Given the description of an element on the screen output the (x, y) to click on. 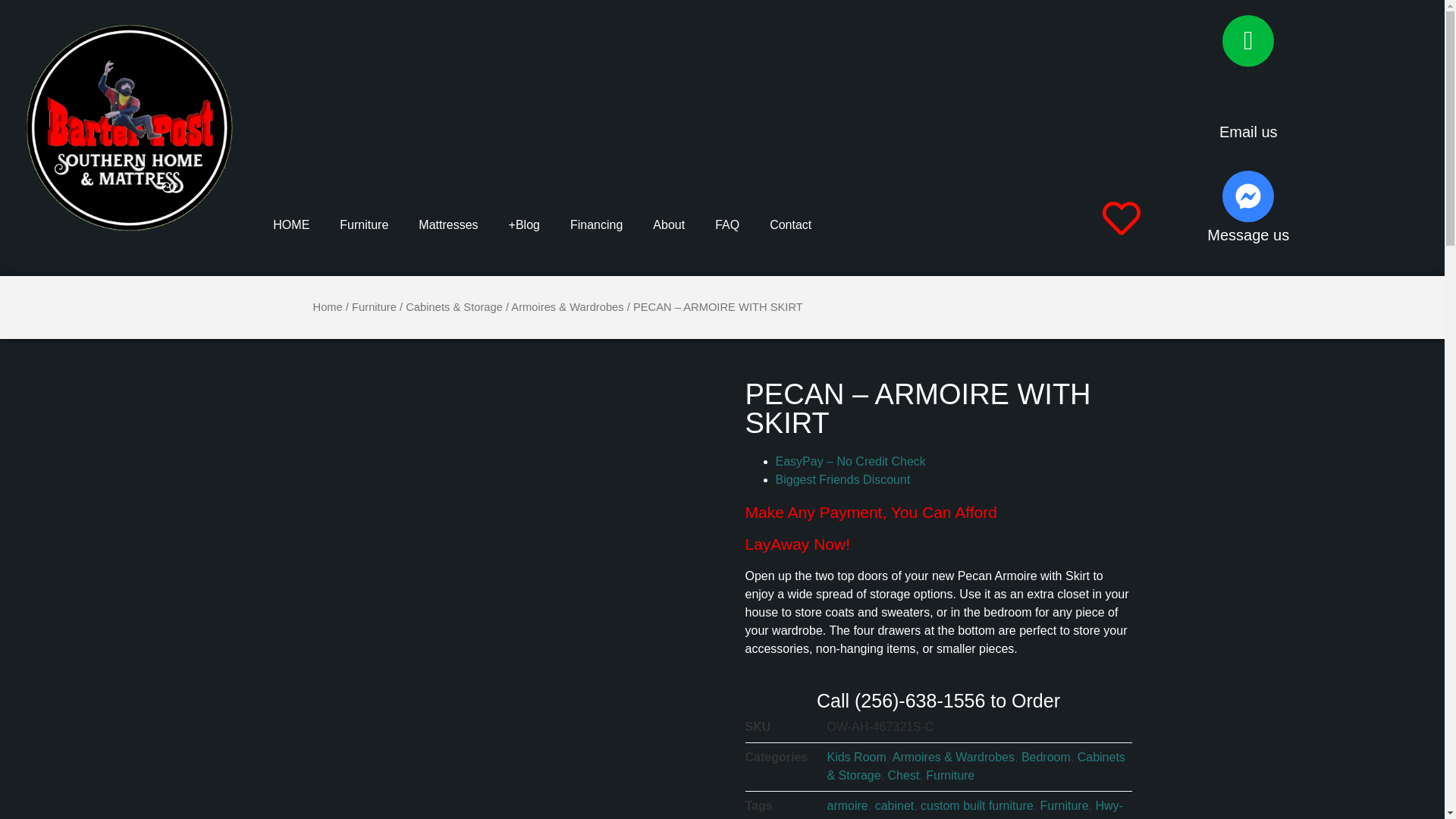
About (937, 528)
Contact (668, 225)
Financing (790, 225)
FAQ (595, 225)
Mattresses (727, 225)
Email us (448, 225)
Message us (1248, 131)
HOME (1248, 234)
Furniture (290, 225)
